Given the description of an element on the screen output the (x, y) to click on. 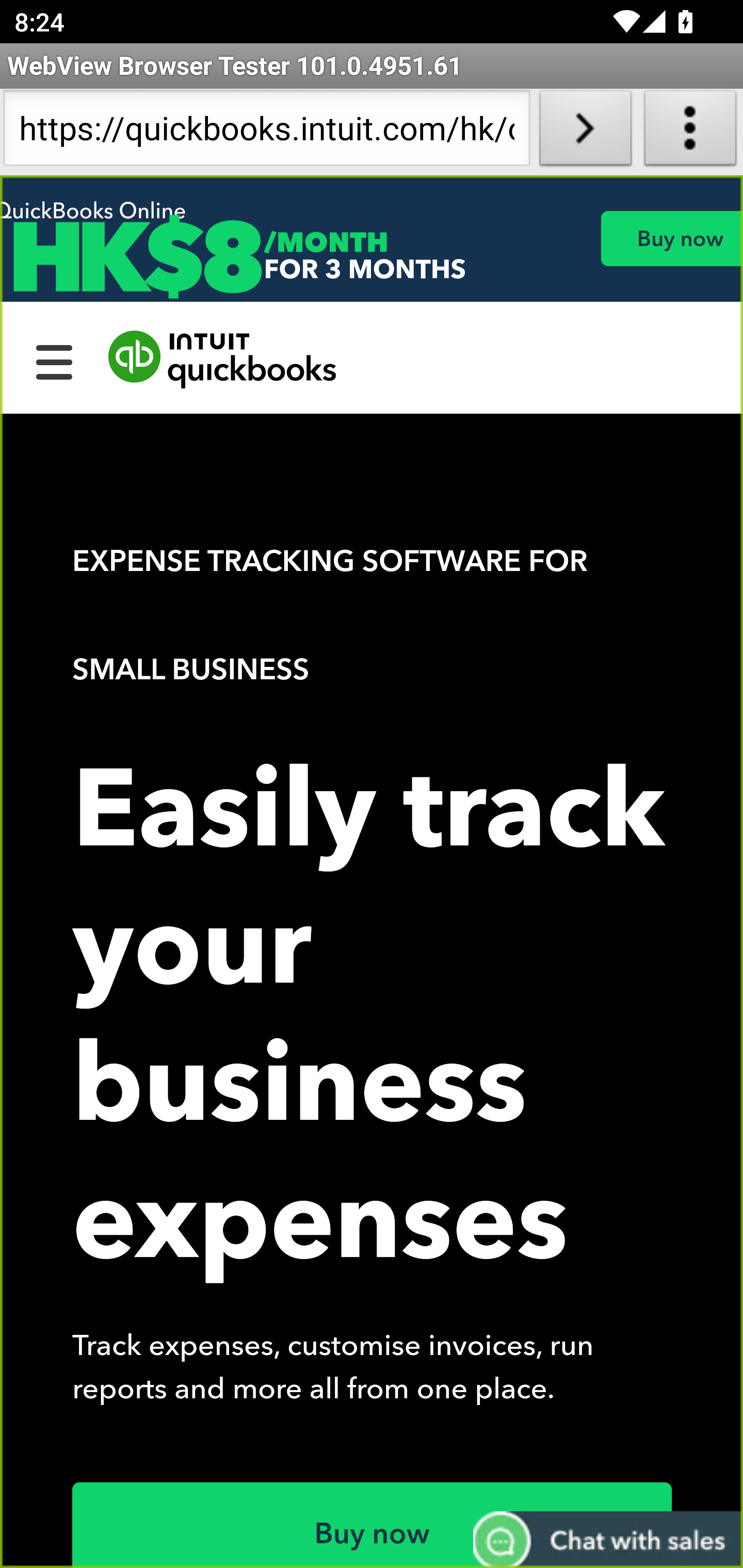
Load URL (585, 132)
About WebView (690, 132)
Buy now (671, 238)
quickbooks-mobile-burger (54, 359)
quickbooks (222, 359)
Buy now (372, 1524)
